Given the description of an element on the screen output the (x, y) to click on. 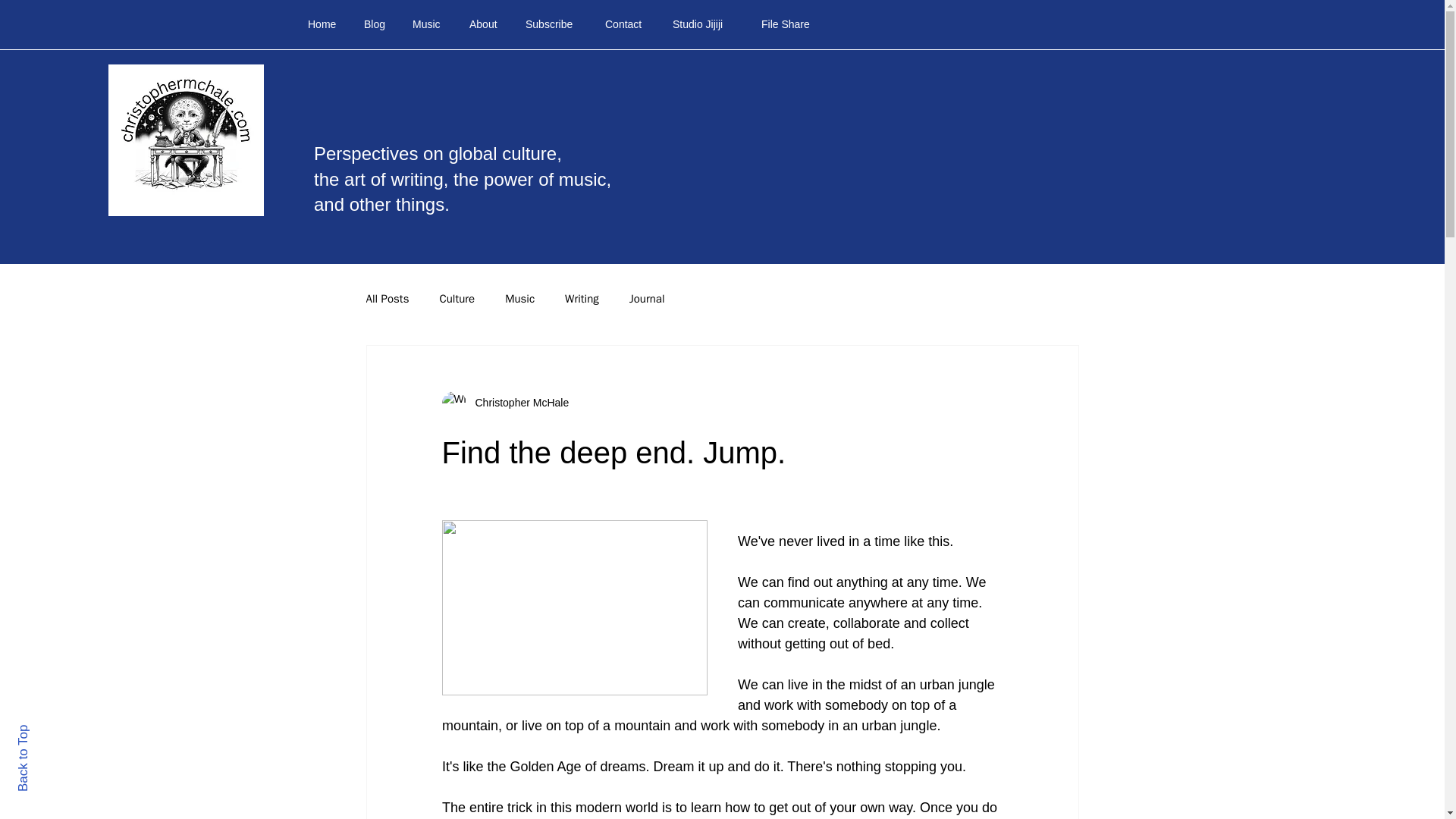
Journal (646, 298)
Culture (456, 298)
Christopher McHale (517, 402)
Blog (376, 24)
Studio Jijiji (705, 24)
File Share (789, 24)
All Posts (387, 298)
the art of writing, the power of music, and other things. (462, 191)
Subscribe (553, 24)
Music (519, 298)
Perspectives on global culture, (438, 153)
Back to Top (49, 730)
Writing (581, 298)
About (485, 24)
Home (324, 24)
